Given the description of an element on the screen output the (x, y) to click on. 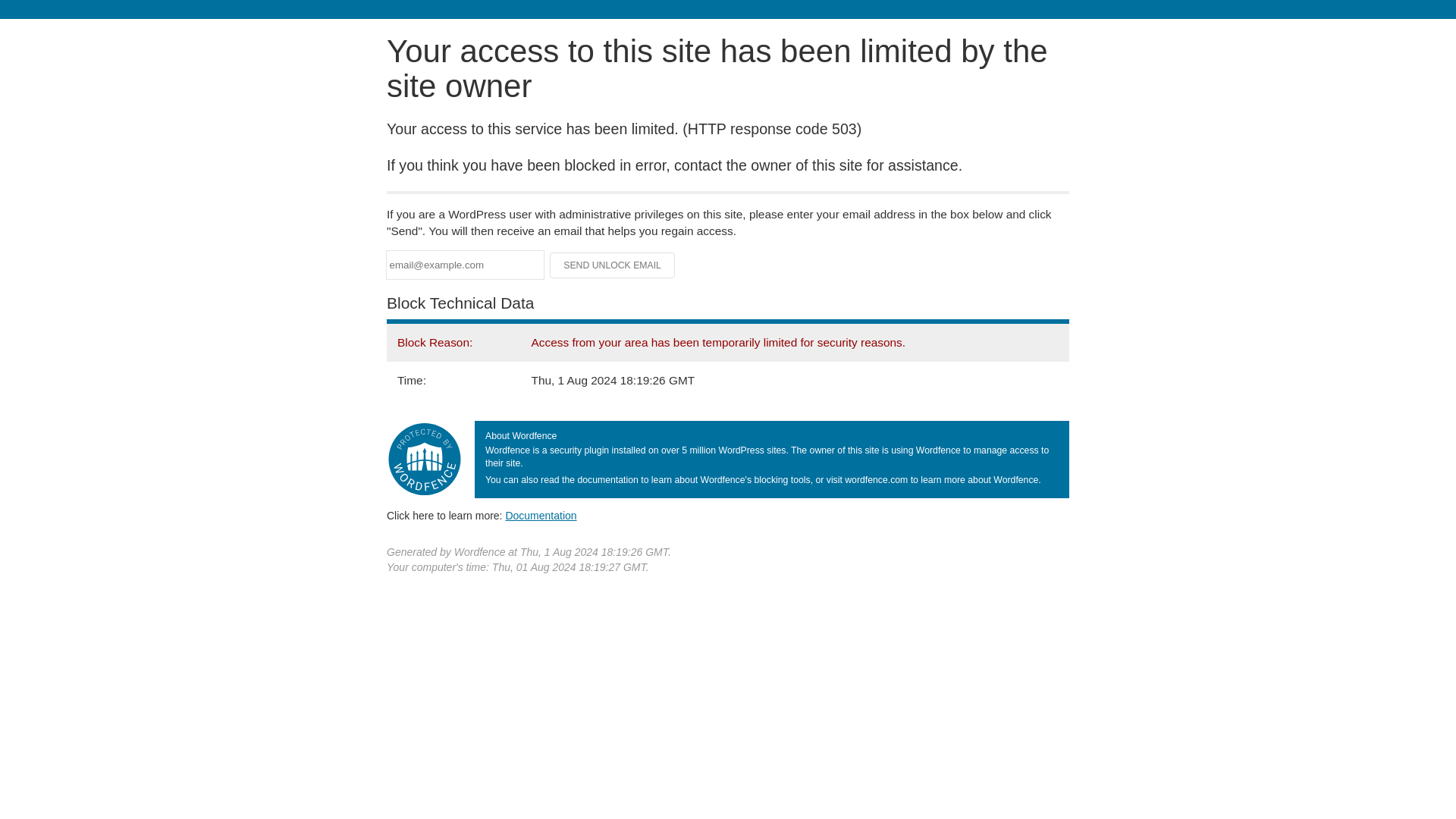
Documentation (540, 515)
Send Unlock Email (612, 265)
Send Unlock Email (612, 265)
